Given the description of an element on the screen output the (x, y) to click on. 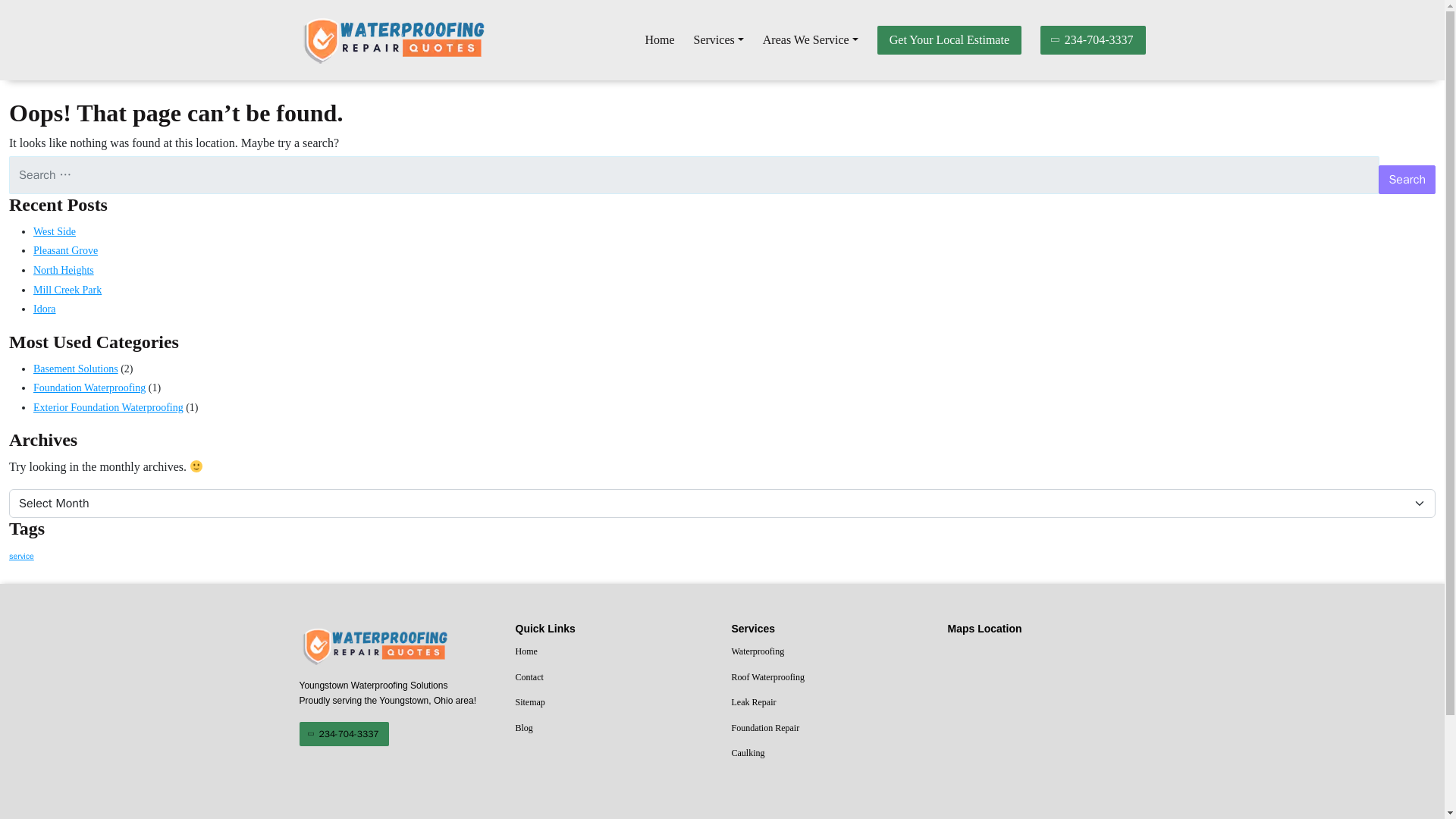
Services (719, 40)
Roof Waterproofing (829, 677)
Pleasant Grove (65, 250)
Contact (614, 677)
Home (614, 651)
Basement Solutions (75, 368)
Home (659, 40)
North Heights (63, 270)
Areas We Service (810, 40)
Idora (44, 308)
